Given the description of an element on the screen output the (x, y) to click on. 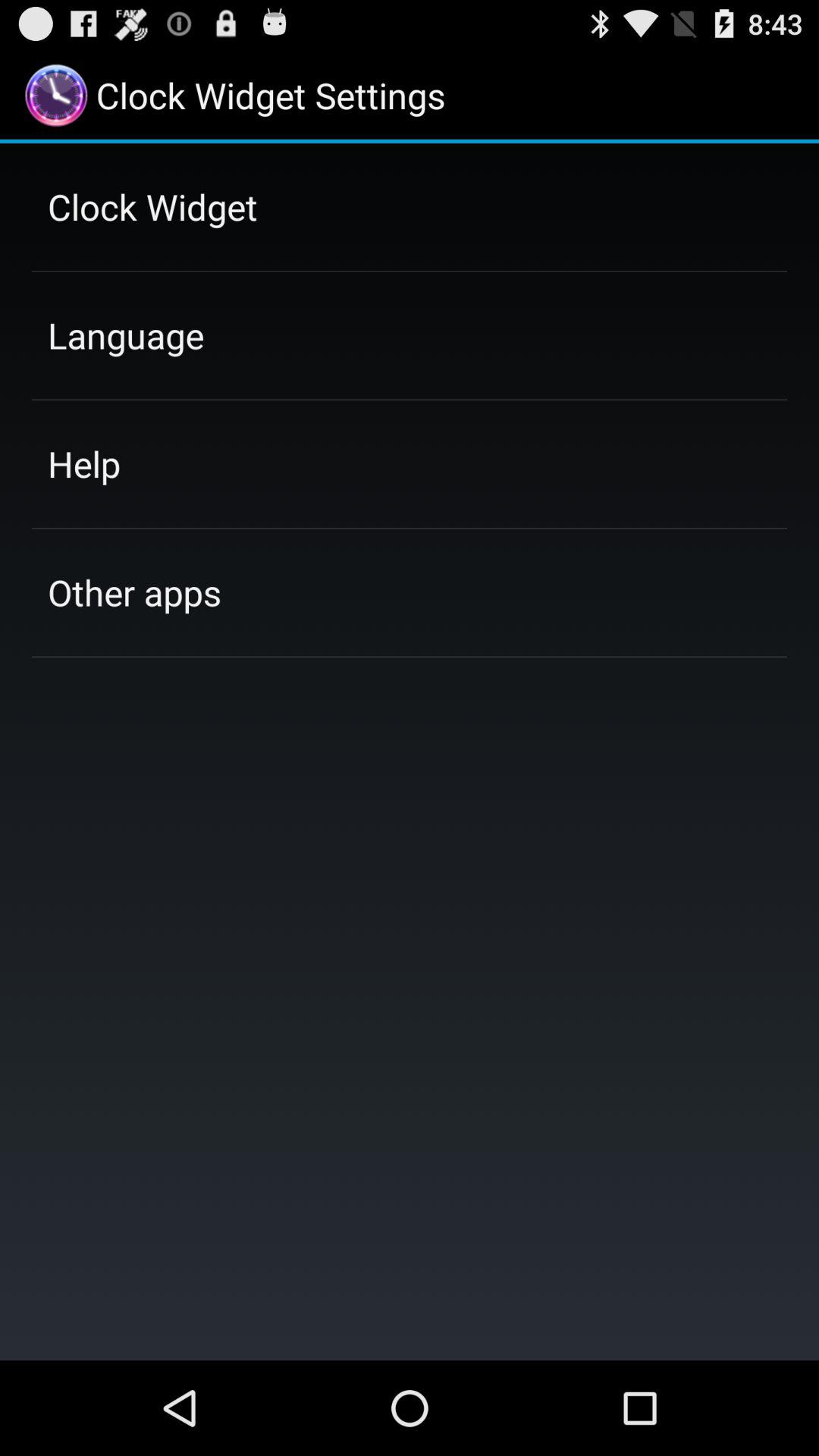
scroll to other apps (134, 592)
